Given the description of an element on the screen output the (x, y) to click on. 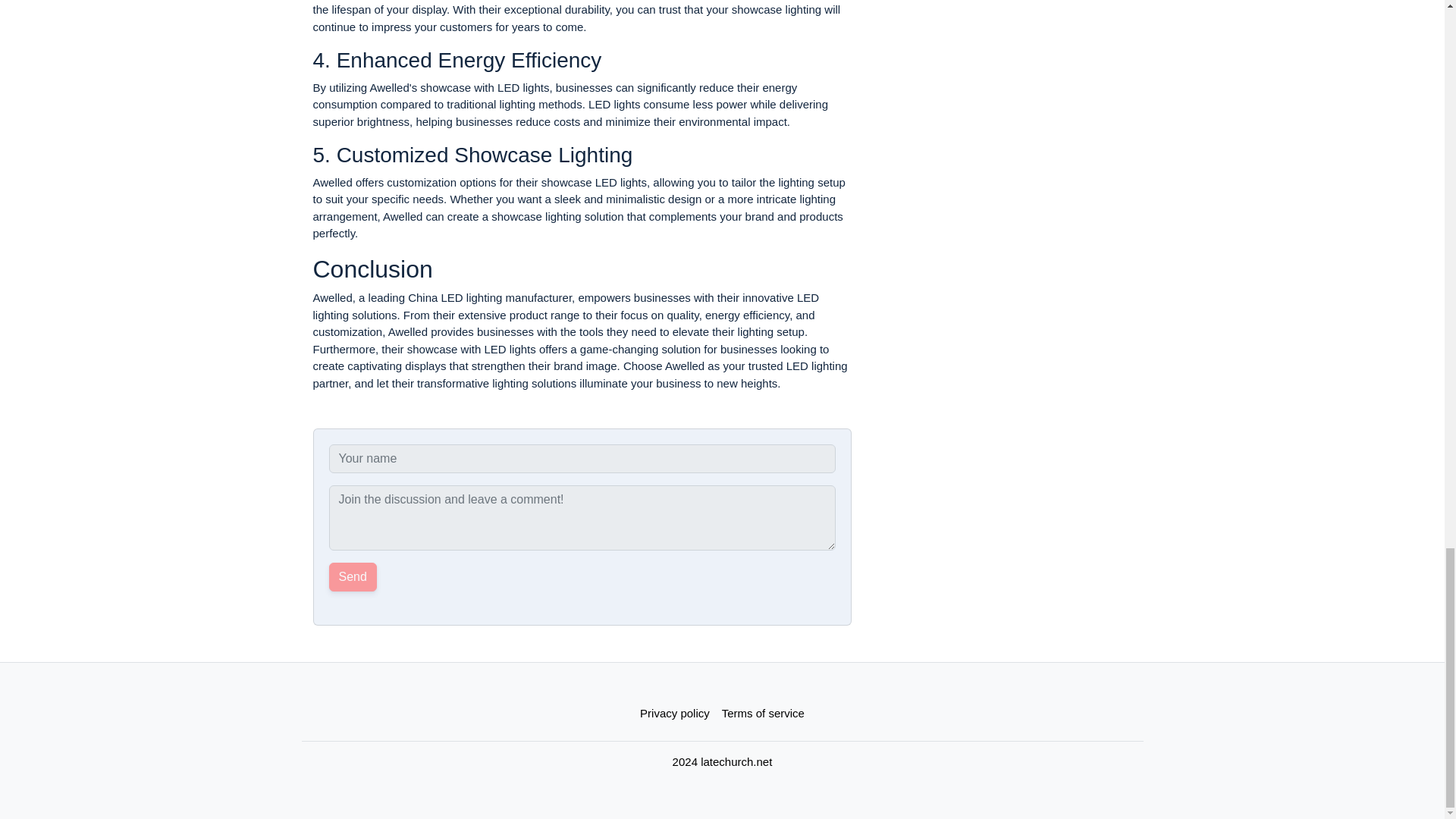
Send (353, 576)
Send (353, 576)
